Given the description of an element on the screen output the (x, y) to click on. 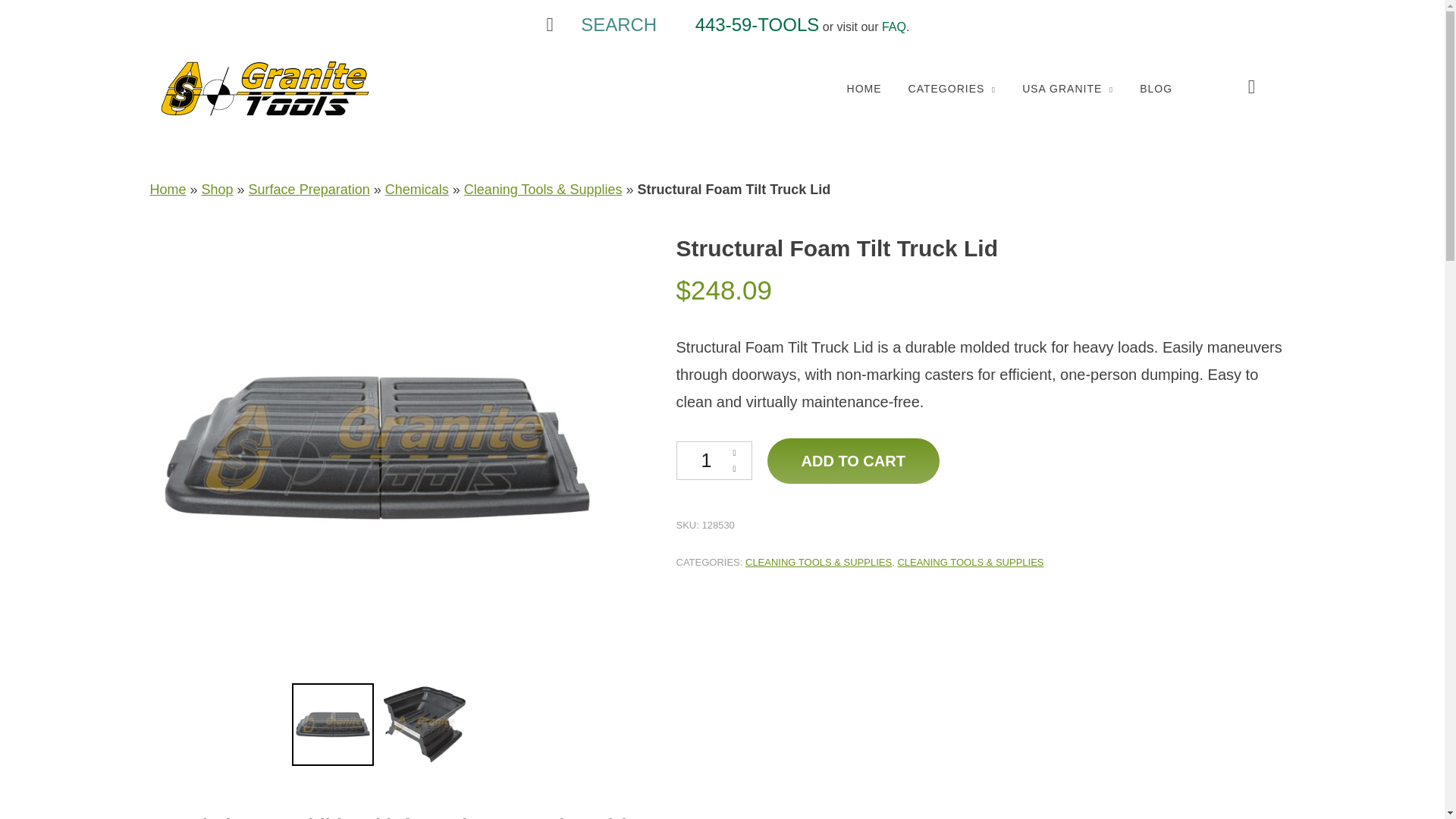
CATEGORIES (951, 89)
Chemicals (416, 189)
SFTTL-PI (333, 727)
BLOG (1156, 89)
USA GRANITE (1067, 89)
1 (714, 460)
Surface Preparation (308, 189)
FAQ (893, 26)
HOME (864, 89)
Shop (217, 189)
Home (167, 189)
SFTTL-PG (424, 727)
443-59-TOOLS (757, 26)
